Given the description of an element on the screen output the (x, y) to click on. 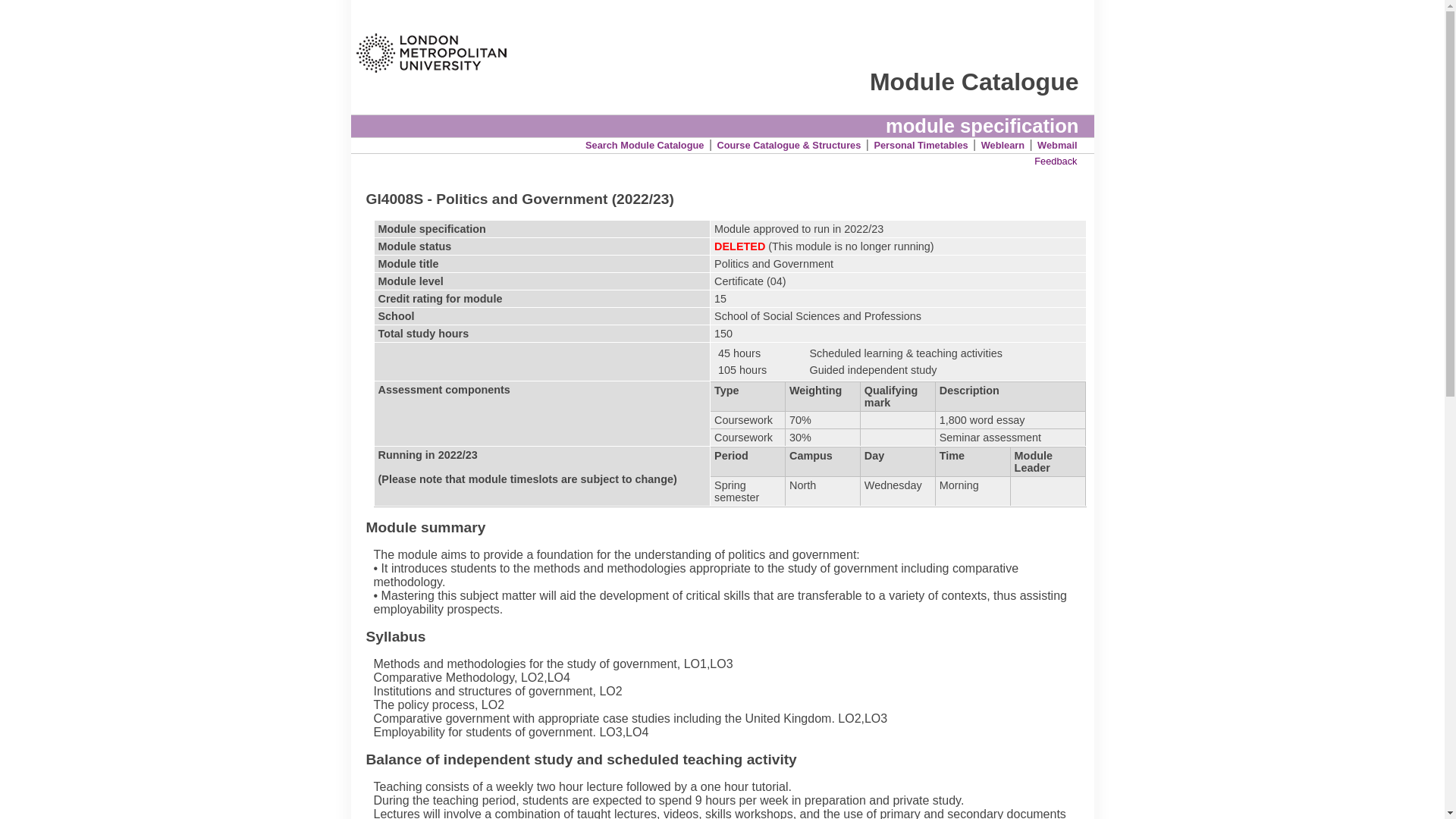
Feedback (1055, 161)
Search Module Catalogue (643, 144)
Weblearn (1002, 144)
Webmail (1056, 144)
Personal Timetables (920, 144)
